Given the description of an element on the screen output the (x, y) to click on. 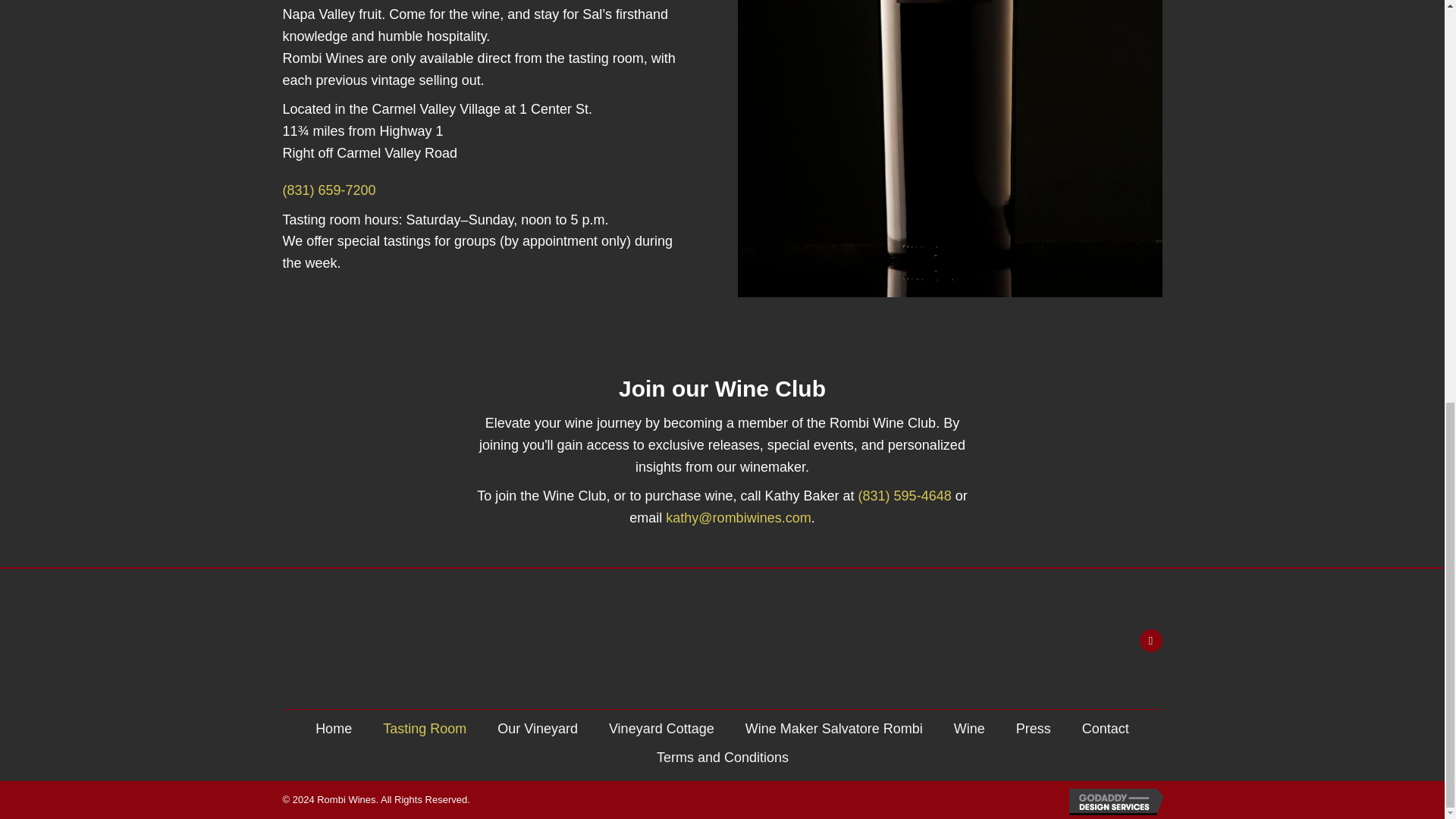
Contact (1105, 728)
Home (332, 728)
Press (1033, 728)
Terms and Conditions (722, 757)
Wine Maker Salvatore Rombi (833, 728)
Wine (969, 728)
Tasting Room (424, 728)
Vineyard Cottage (661, 728)
Our Vineyard (536, 728)
